Given the description of an element on the screen output the (x, y) to click on. 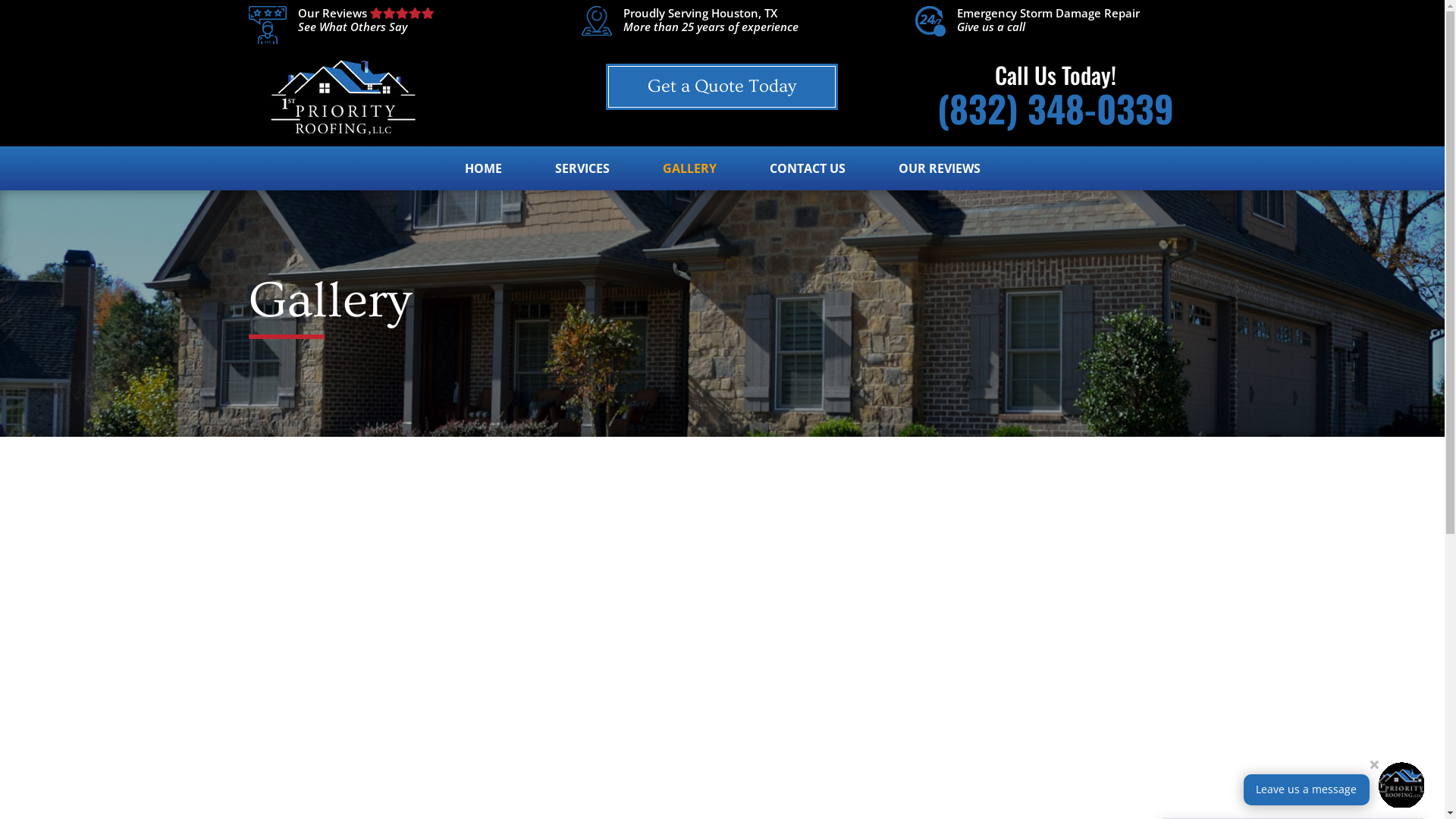
HOME Element type: text (482, 176)
Header-Logo Element type: hover (340, 96)
SERVICES Element type: text (582, 176)
Get a Quote Today Element type: text (721, 86)
Before and After Roofing Job Element type: hover (472, 647)
GALLERY Element type: text (689, 176)
Chat-Icon Element type: hover (1401, 784)
CONTACT US Element type: text (806, 176)
Forest Laurel Roof Installation Element type: hover (972, 647)
OUR REVIEWS Element type: text (938, 176)
